Given the description of an element on the screen output the (x, y) to click on. 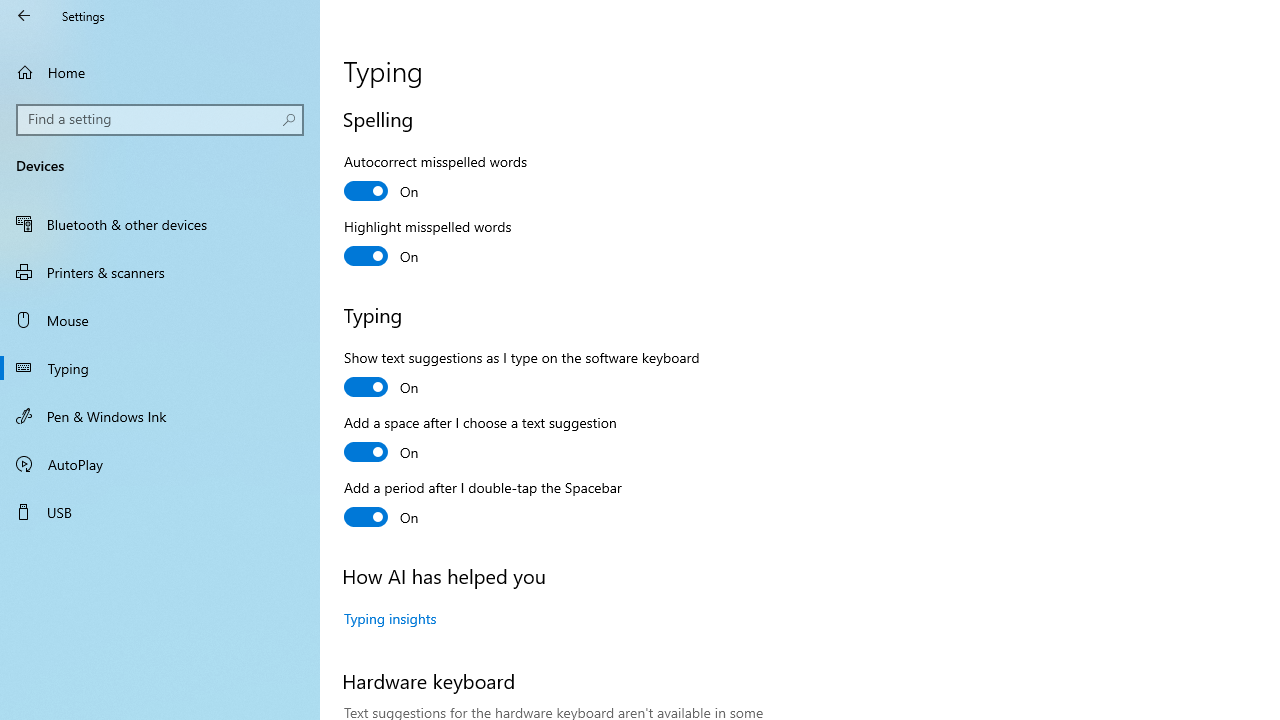
Search box, Find a setting (160, 119)
